Given the description of an element on the screen output the (x, y) to click on. 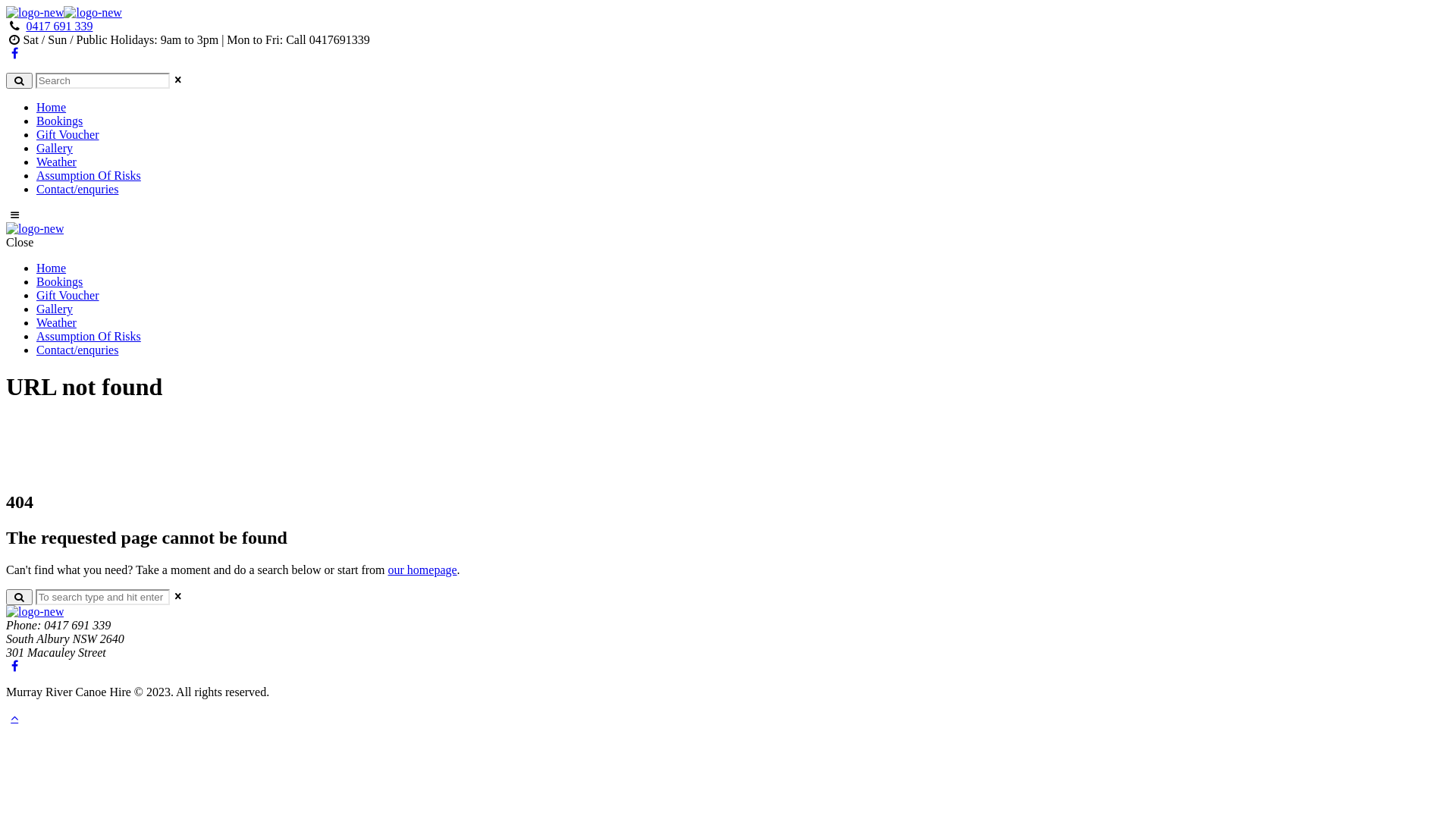
Open search Element type: hover (19, 80)
Weather Element type: text (56, 322)
Gallery Element type: text (54, 308)
Gallery Element type: text (54, 147)
Bookings Element type: text (59, 120)
Home Element type: text (50, 106)
0417 691 339 Element type: text (58, 25)
Home Element type: text (50, 267)
Scroll to top Element type: hover (14, 717)
Assumption Of Risks Element type: text (88, 335)
Gift Voucher Element type: text (67, 294)
Assumption Of Risks Element type: text (88, 175)
Weather Element type: text (56, 161)
our homepage Element type: text (422, 569)
Open search Element type: hover (19, 597)
Contact/enquries Element type: text (77, 188)
Gift Voucher Element type: text (67, 134)
Bookings Element type: text (59, 281)
Contact/enquries Element type: text (77, 349)
